Given the description of an element on the screen output the (x, y) to click on. 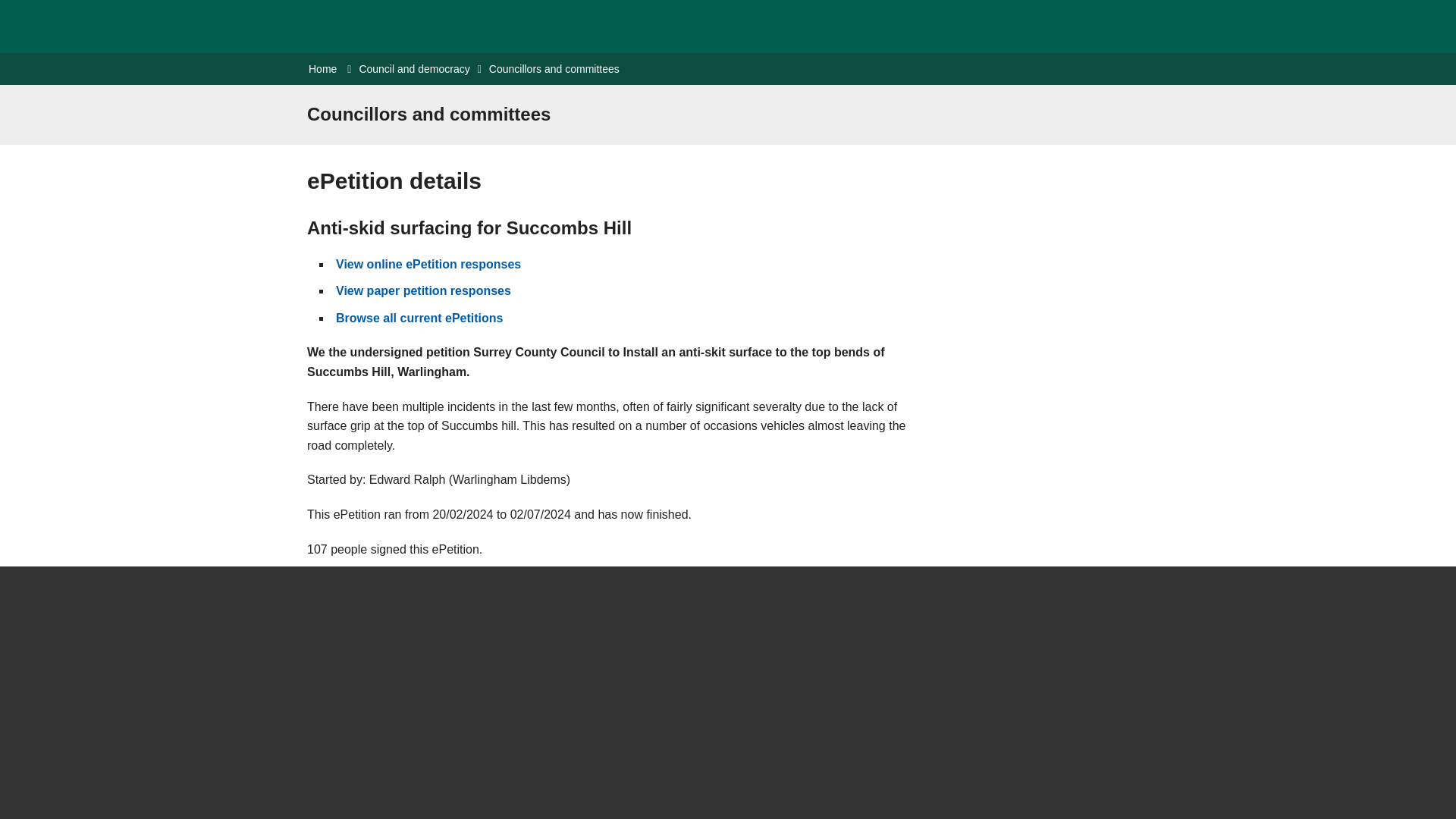
Home (322, 68)
Councillors and committees (554, 68)
Surrey County Council homepage (328, 26)
Browse all current ePetitions (419, 318)
View ePetition responses (423, 290)
Council and democracy (413, 68)
View paper petition responses (423, 290)
View online ePetition responses (428, 264)
